Given the description of an element on the screen output the (x, y) to click on. 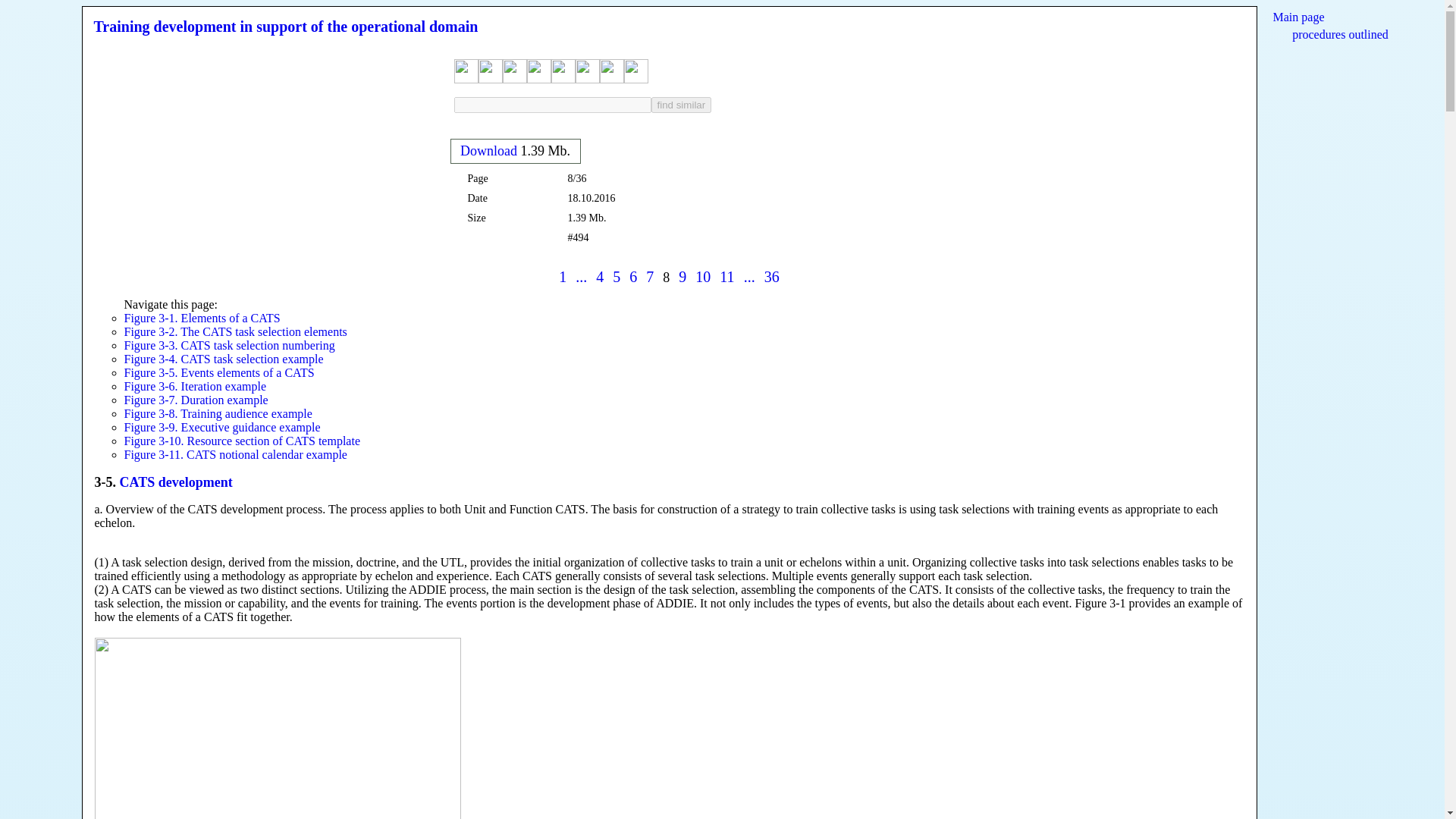
Figure 3-8. Training audience example (218, 413)
36 (771, 276)
Figure 3-9. Executive guidance example (221, 427)
find similar (680, 105)
CATS development (175, 482)
Training development in support of the operational domain (286, 26)
Download (488, 150)
find similar (680, 105)
Figure 3-3. CATS task selection numbering (228, 345)
Figure 3-5. Events elements of a CATS (218, 372)
